Given the description of an element on the screen output the (x, y) to click on. 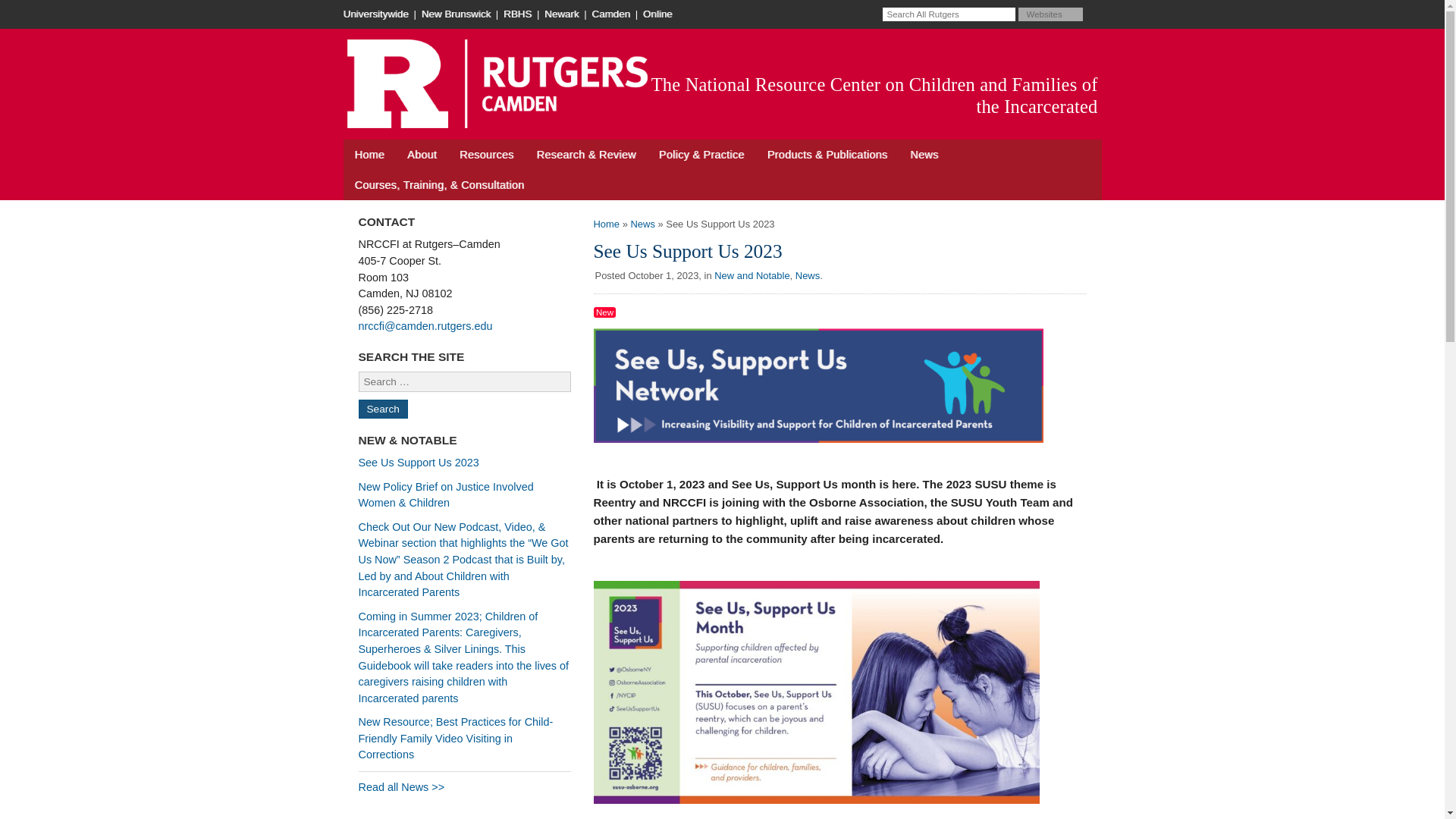
Rutgers University home page (376, 14)
News (641, 224)
Go to News. (641, 224)
Camden (611, 14)
Online (659, 14)
Rutgers Online home page (659, 14)
Search (1094, 14)
News (923, 154)
About (422, 154)
Resources (486, 154)
Search (1094, 14)
Search (382, 408)
Newark (562, 14)
Search (382, 408)
